Given the description of an element on the screen output the (x, y) to click on. 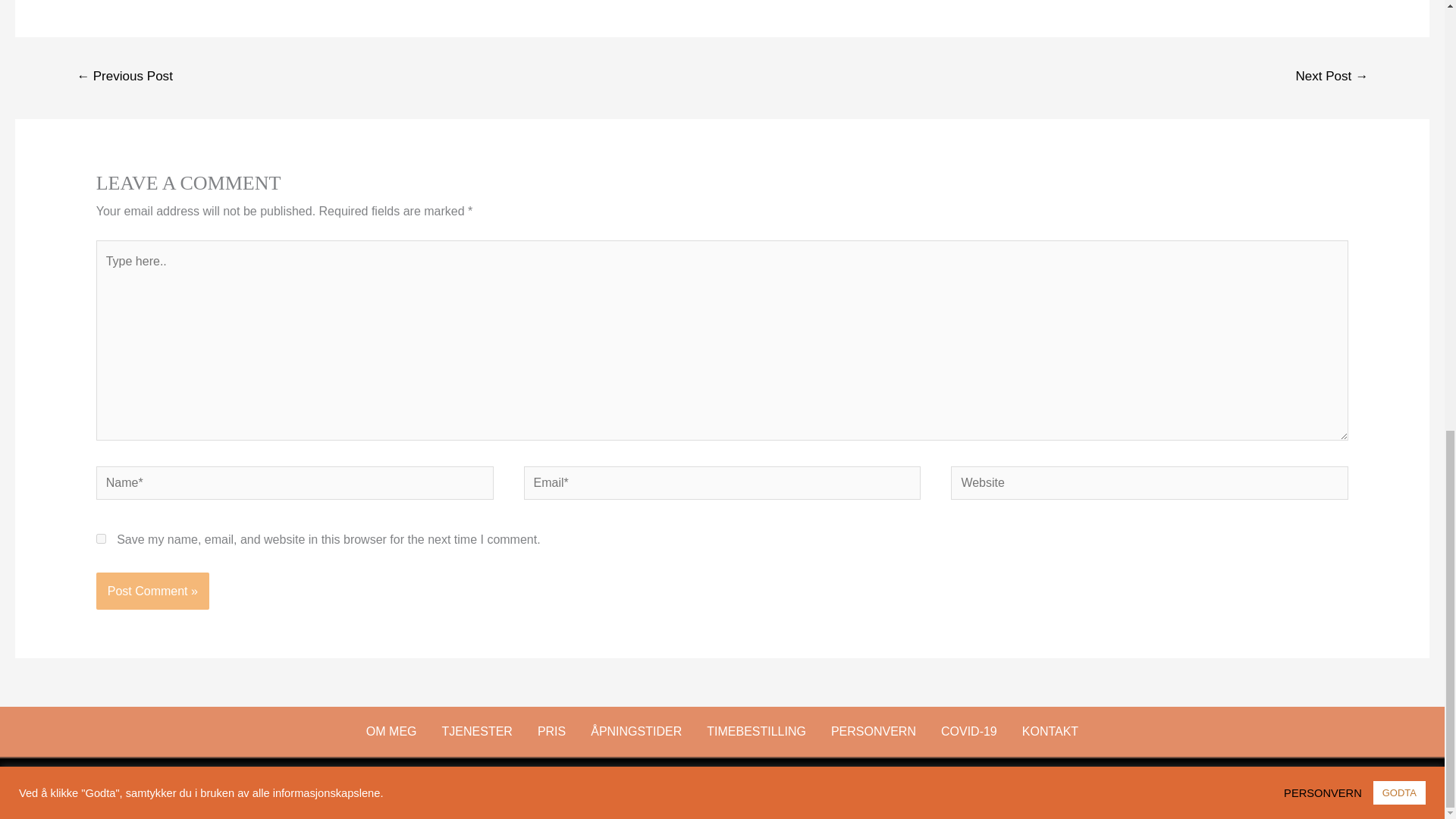
KONTAKT (1049, 731)
COVID-19 (969, 731)
TJENESTER (477, 731)
PRIS (550, 731)
TIMEBESTILLING (755, 731)
yes (101, 538)
OM MEG (391, 731)
PERSONVERN (873, 731)
